Given the description of an element on the screen output the (x, y) to click on. 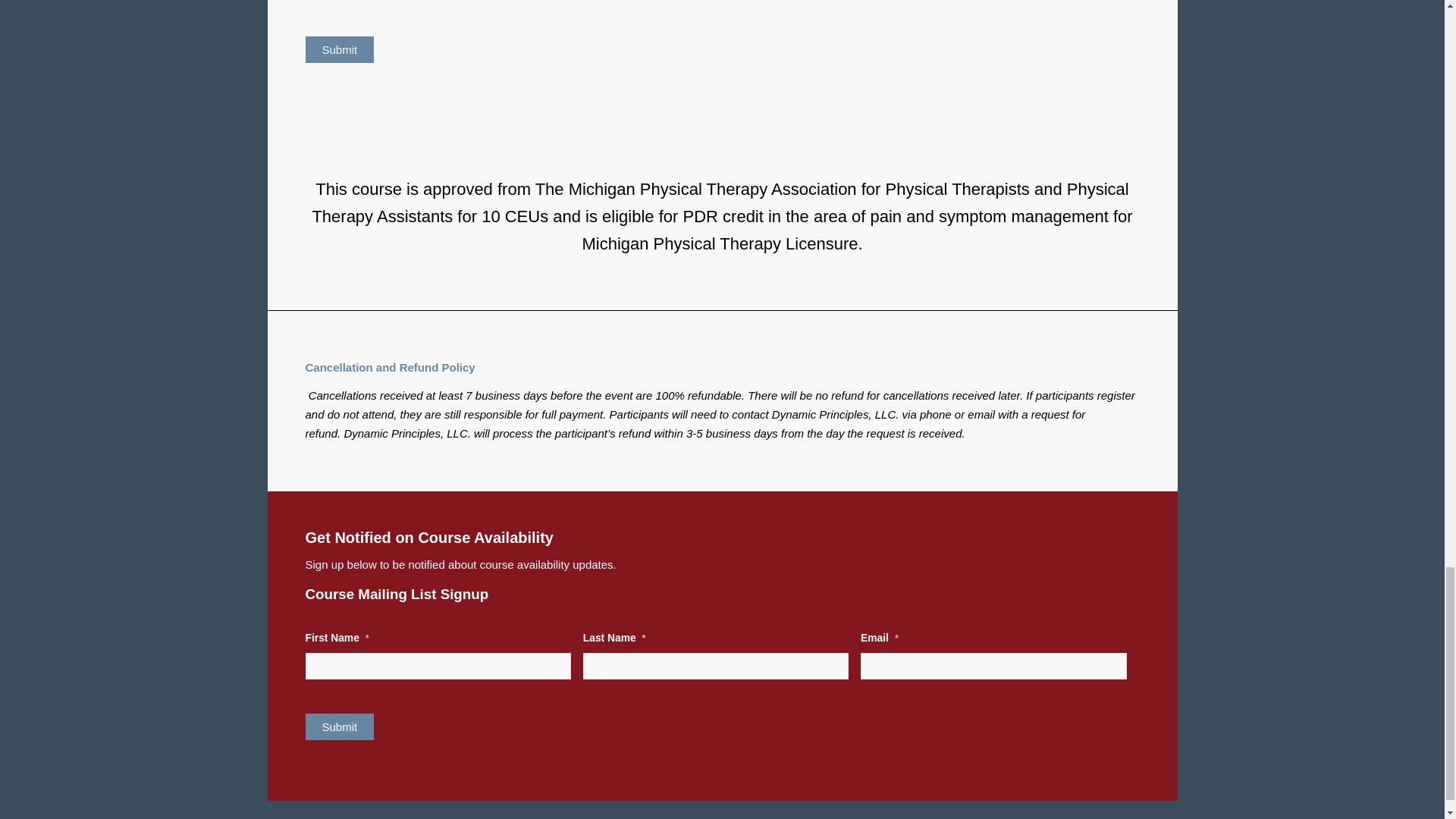
Submit (339, 726)
Submit (339, 49)
